Given the description of an element on the screen output the (x, y) to click on. 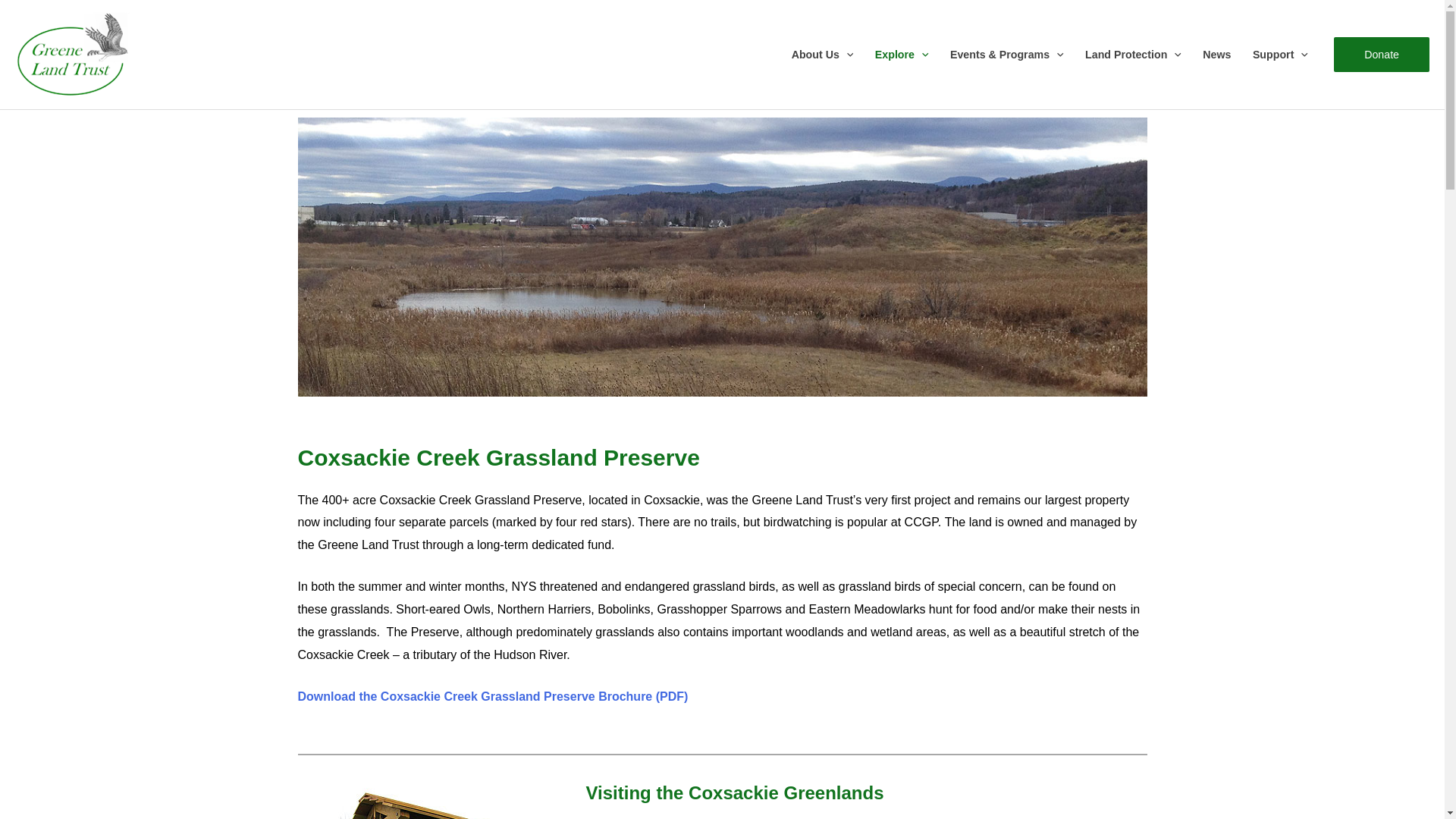
About Us (821, 54)
News (1216, 54)
Support (1280, 54)
Explore (901, 54)
Land Protection (1133, 54)
Donate (1381, 54)
